Given the description of an element on the screen output the (x, y) to click on. 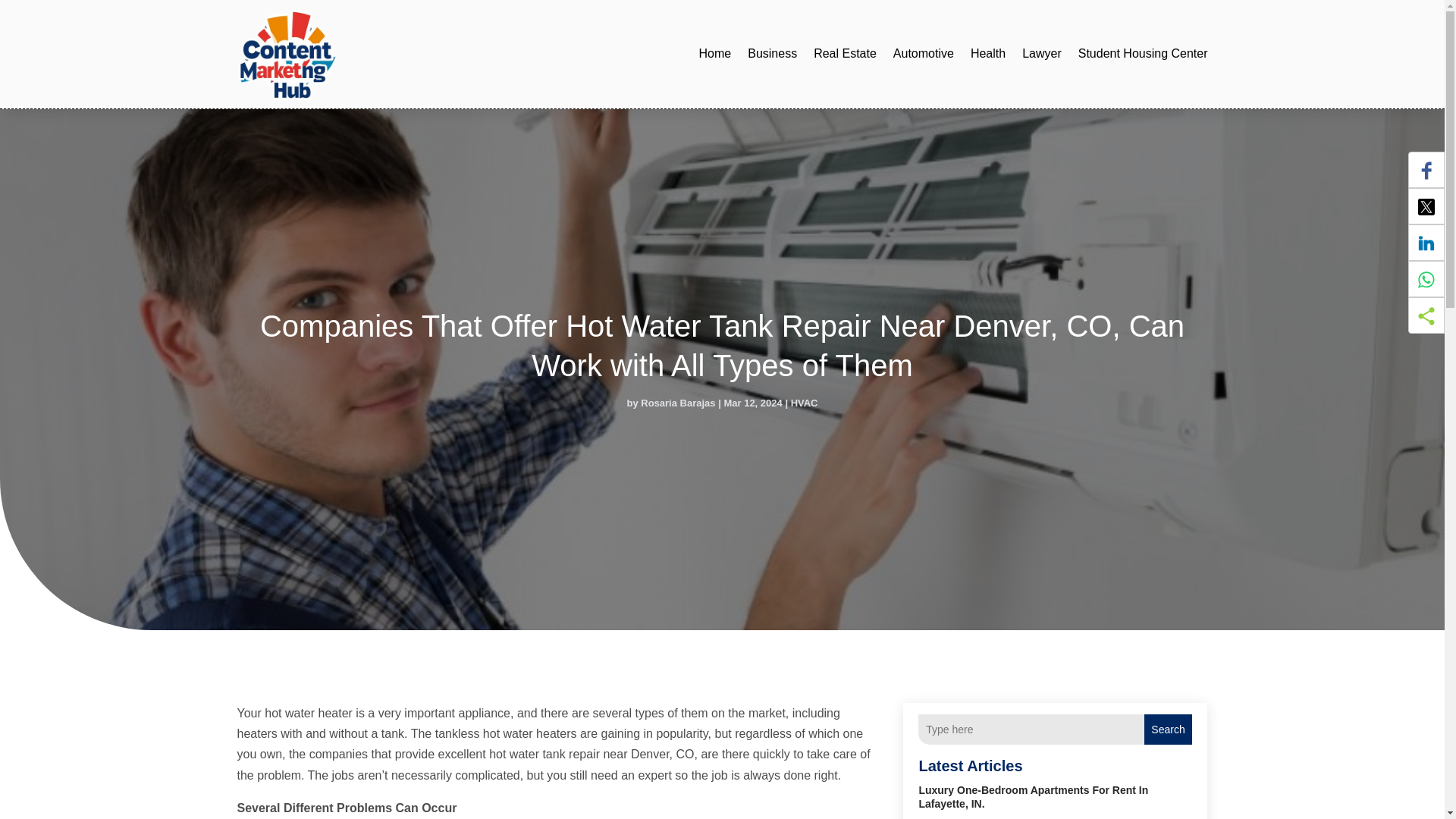
Rosaria Barajas (677, 402)
Student Housing Center (1143, 54)
Search (1168, 729)
Luxury One-Bedroom Apartments For Rent In Lafayette, IN. (1033, 796)
HVAC (804, 402)
Posts by Rosaria Barajas (677, 402)
